Given the description of an element on the screen output the (x, y) to click on. 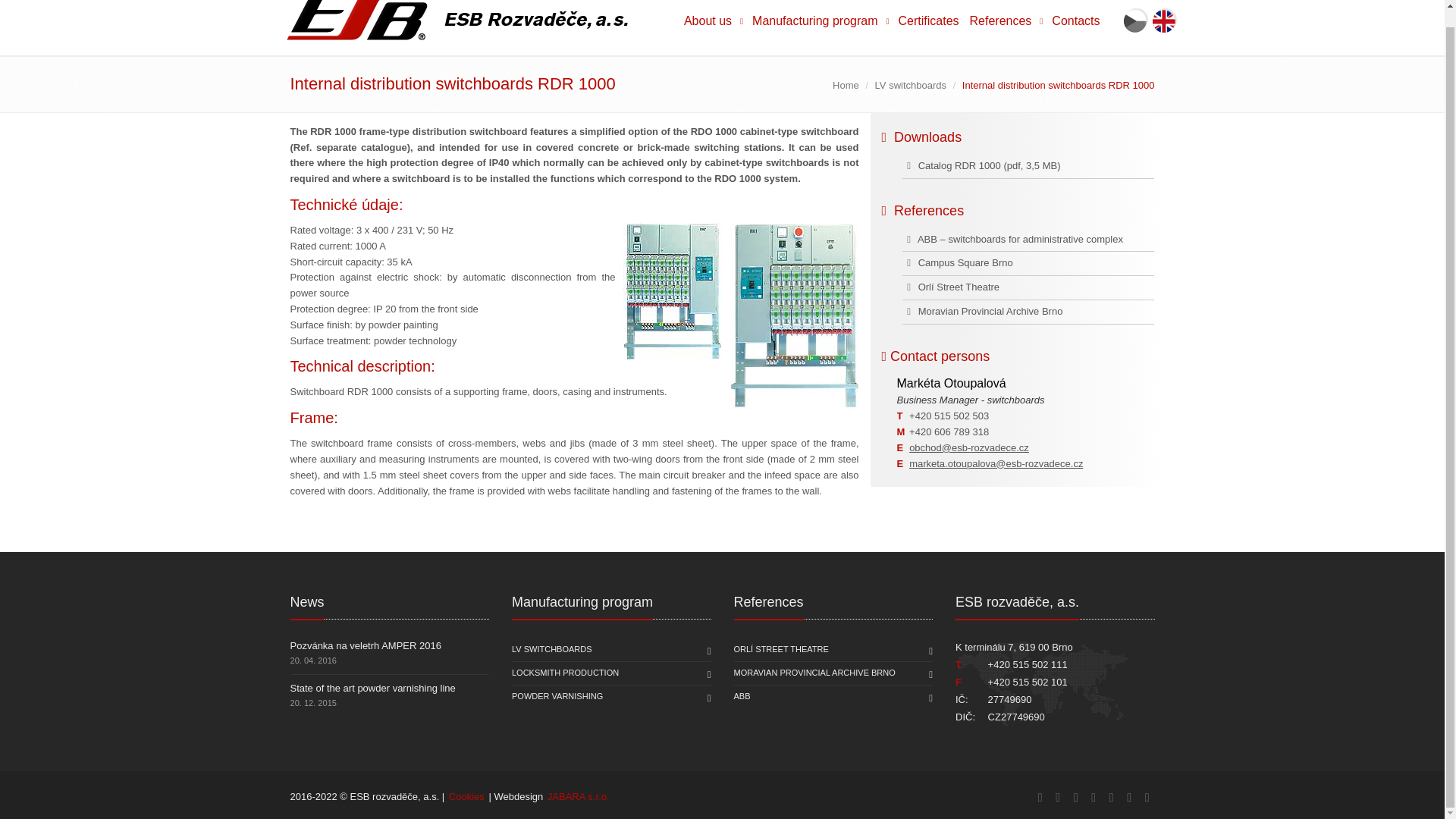
Catalog RDR 1000 (951, 165)
References (1004, 27)
Campus Square Brno (956, 262)
Manufacturing program (819, 27)
English (1165, 19)
Certificates (928, 27)
Contacts (1075, 27)
About us (712, 27)
Home (845, 84)
